Given the description of an element on the screen output the (x, y) to click on. 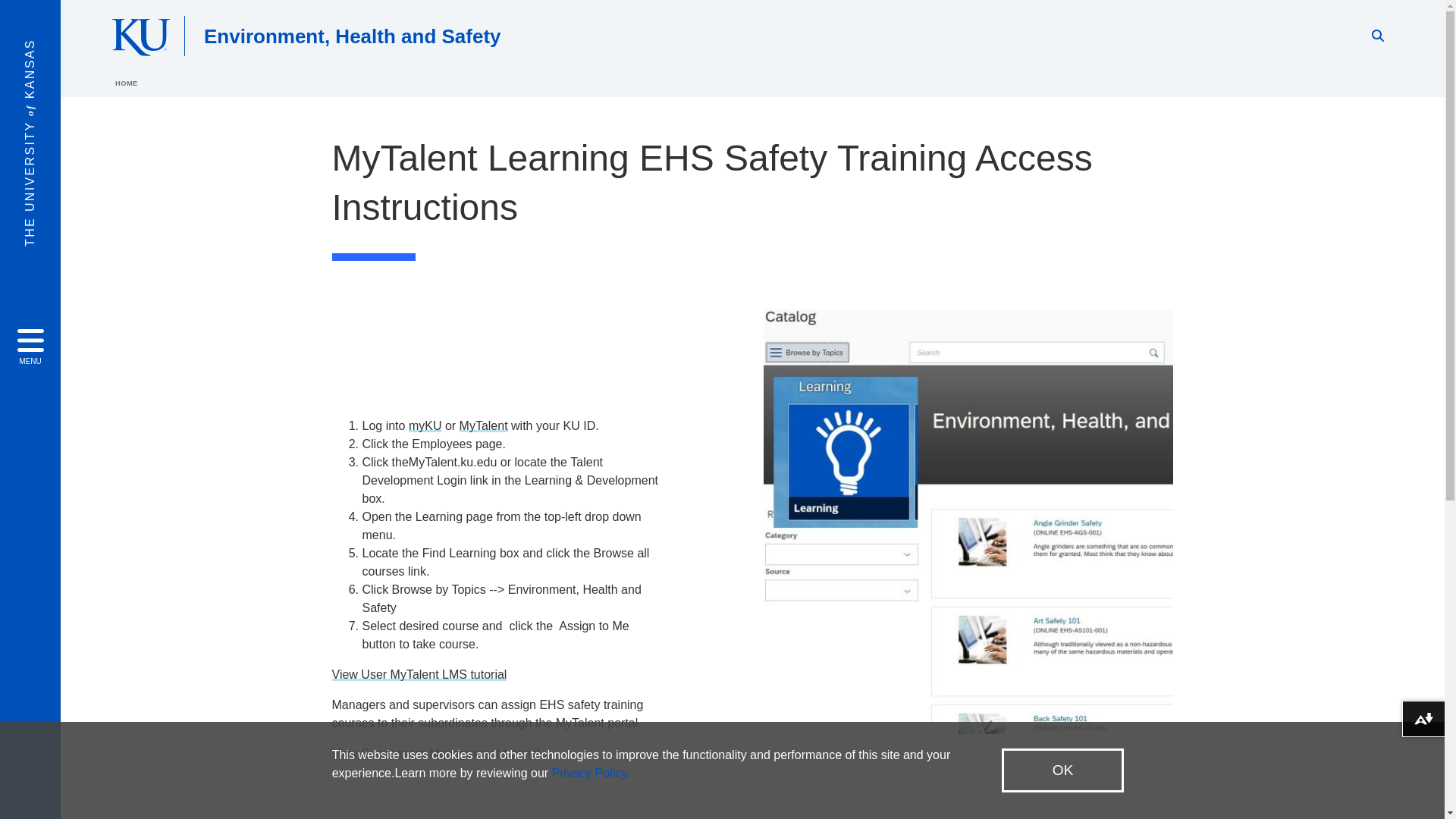
Privacy Policy. (590, 772)
OK (1062, 770)
